Given the description of an element on the screen output the (x, y) to click on. 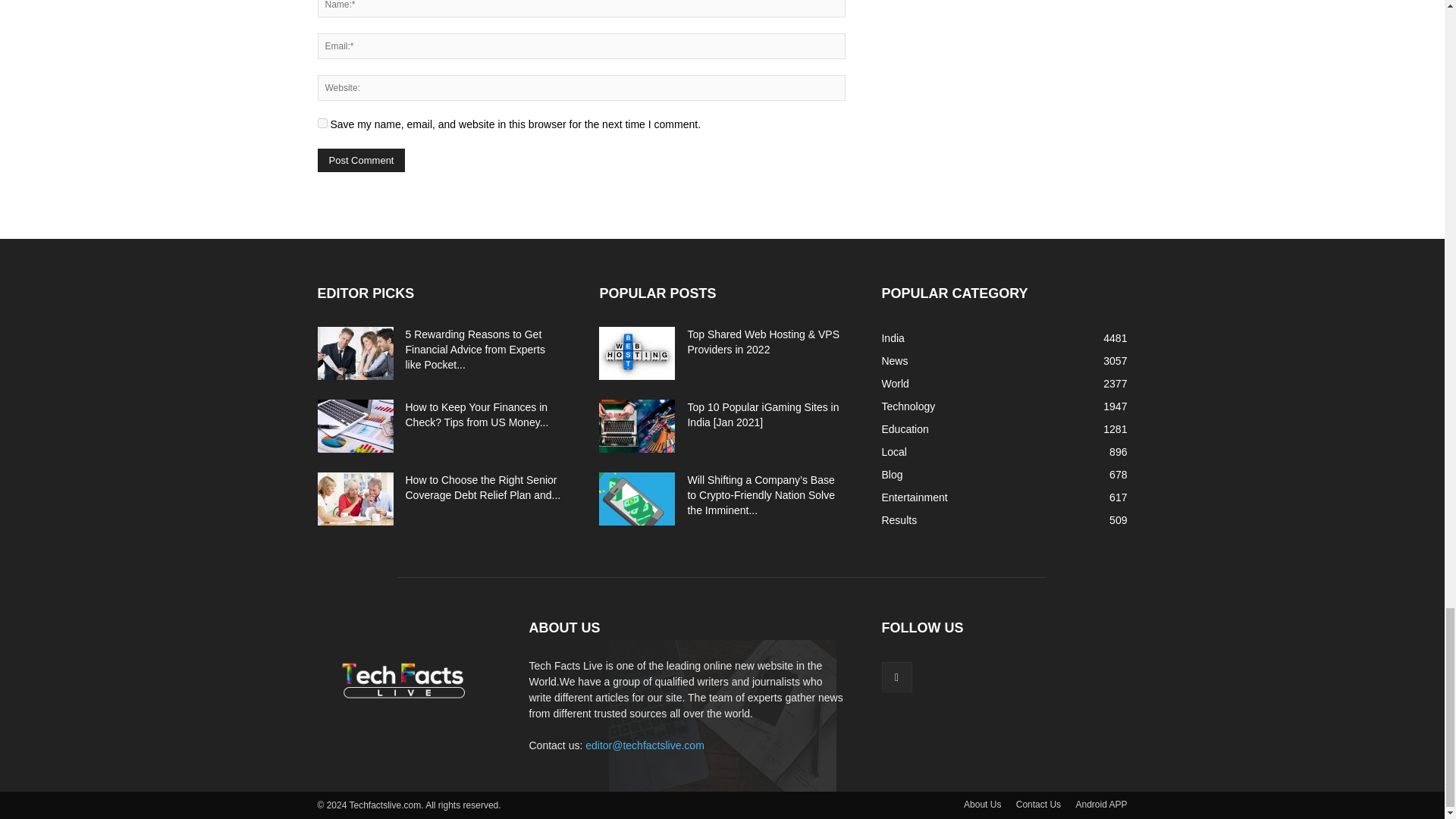
Post Comment (360, 159)
yes (321, 122)
